Given the description of an element on the screen output the (x, y) to click on. 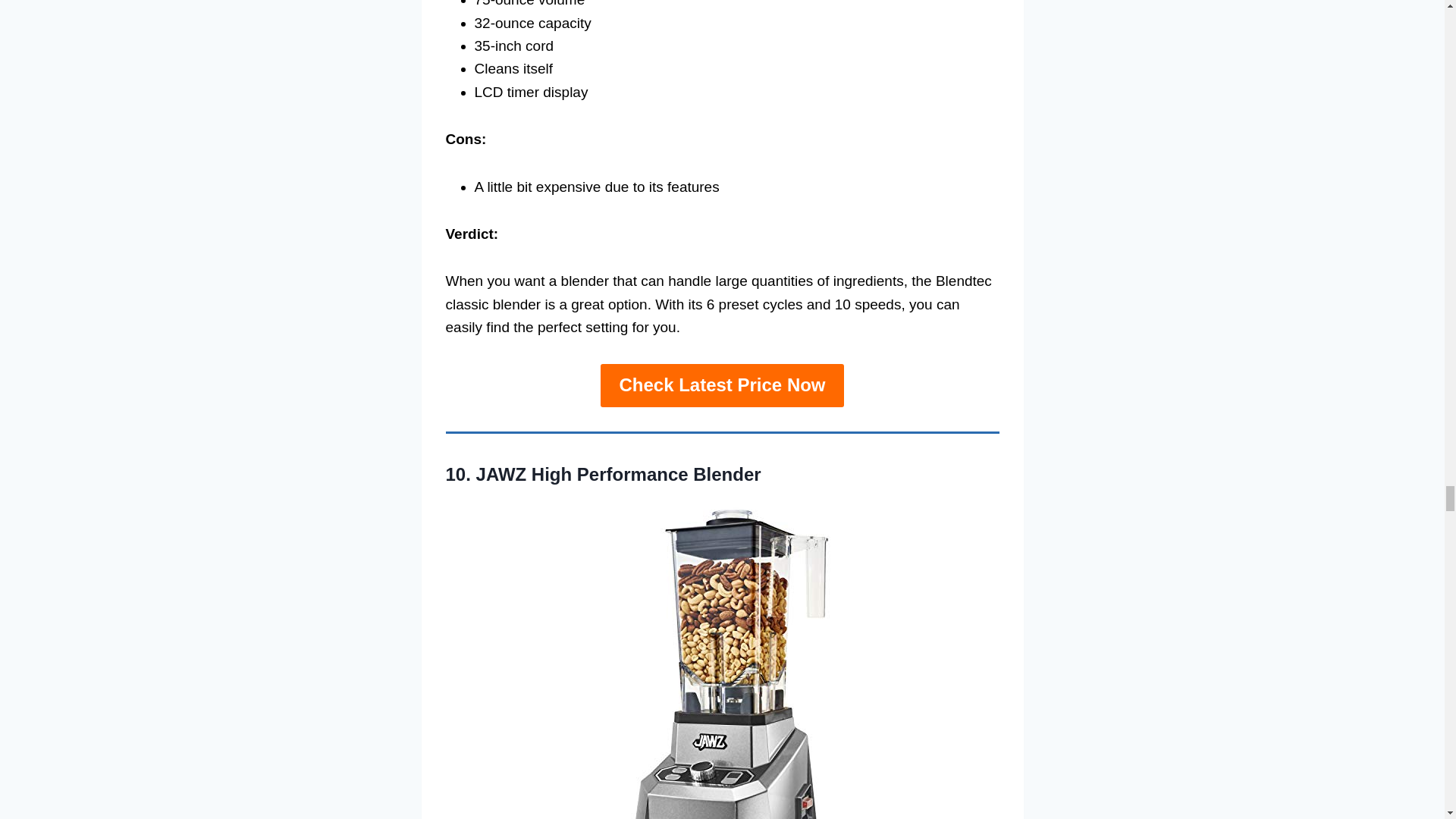
Check Latest Price Now (721, 385)
